Given the description of an element on the screen output the (x, y) to click on. 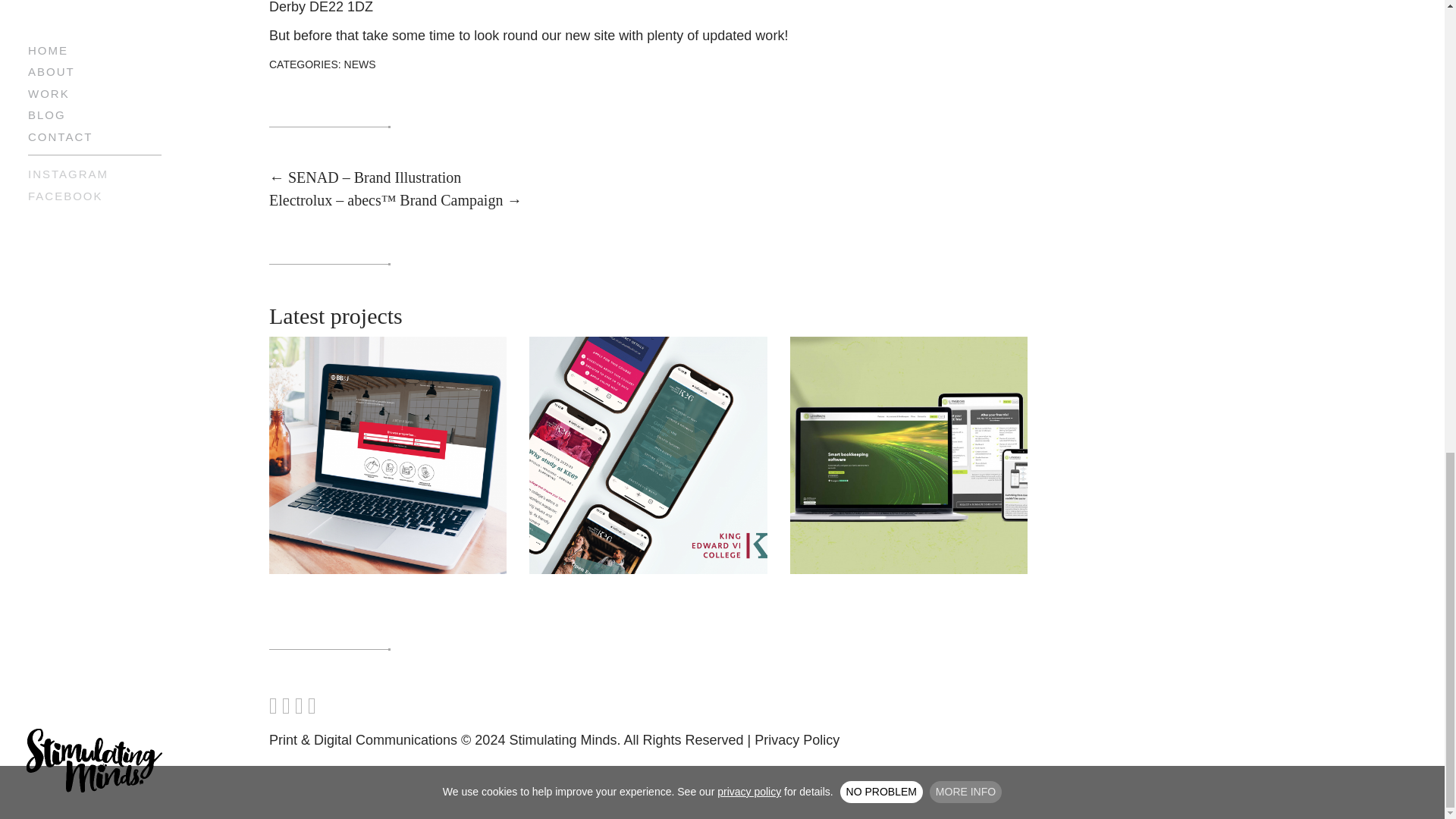
NEWS (359, 64)
KE6 Online Prospectus (648, 453)
Limebooks (908, 453)
Privacy Policy (797, 739)
